Given the description of an element on the screen output the (x, y) to click on. 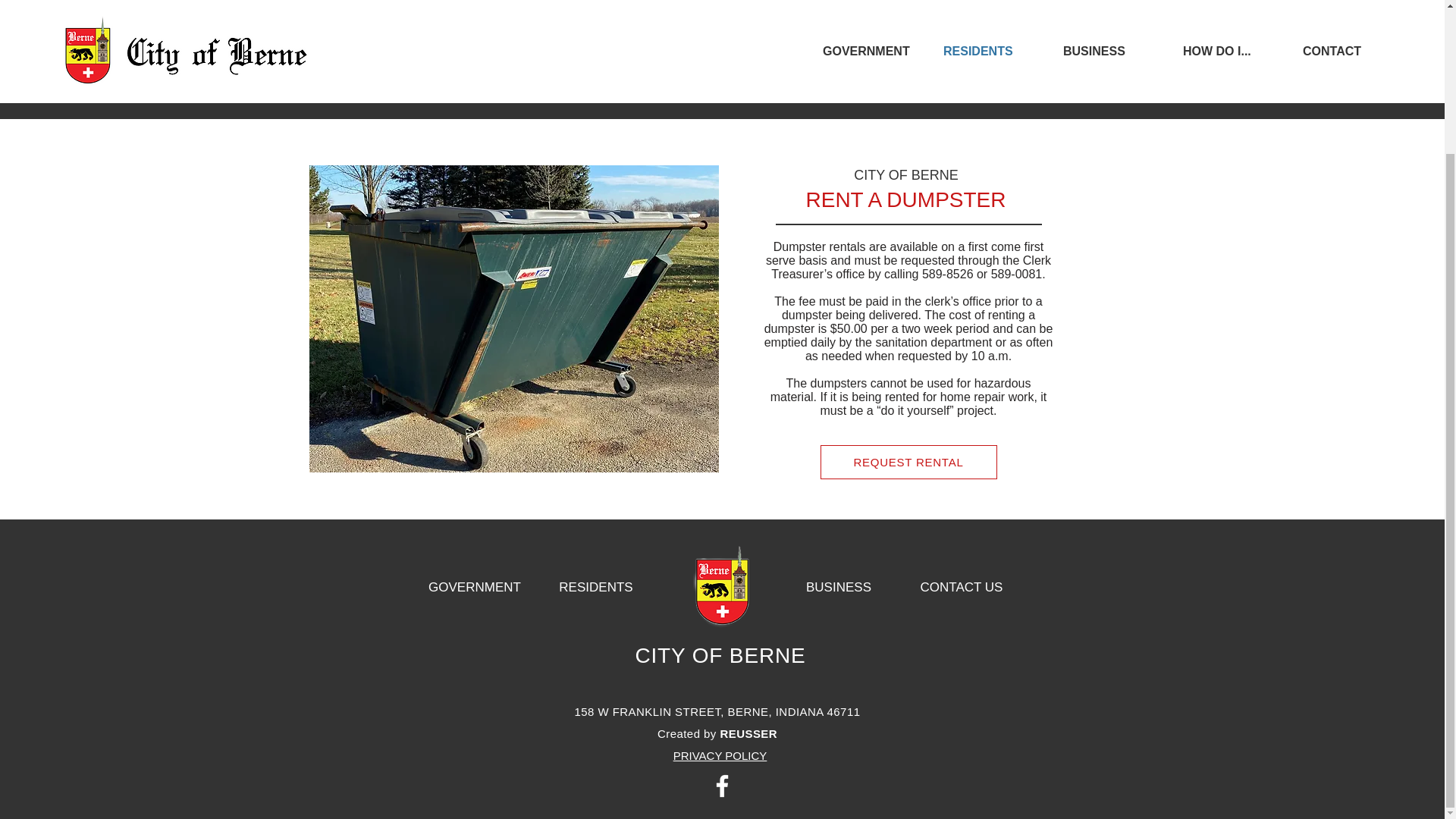
GOVERNMENT (474, 586)
shield (722, 587)
RESIDENTS (595, 586)
REUSSER (748, 733)
REQUEST RENTAL (909, 462)
CITY OF BERNE (719, 655)
CONTACT US (961, 586)
BUSINESS (838, 586)
Berne Fire Department.jpeg (513, 318)
PRIVACY POLICY (719, 755)
